Given the description of an element on the screen output the (x, y) to click on. 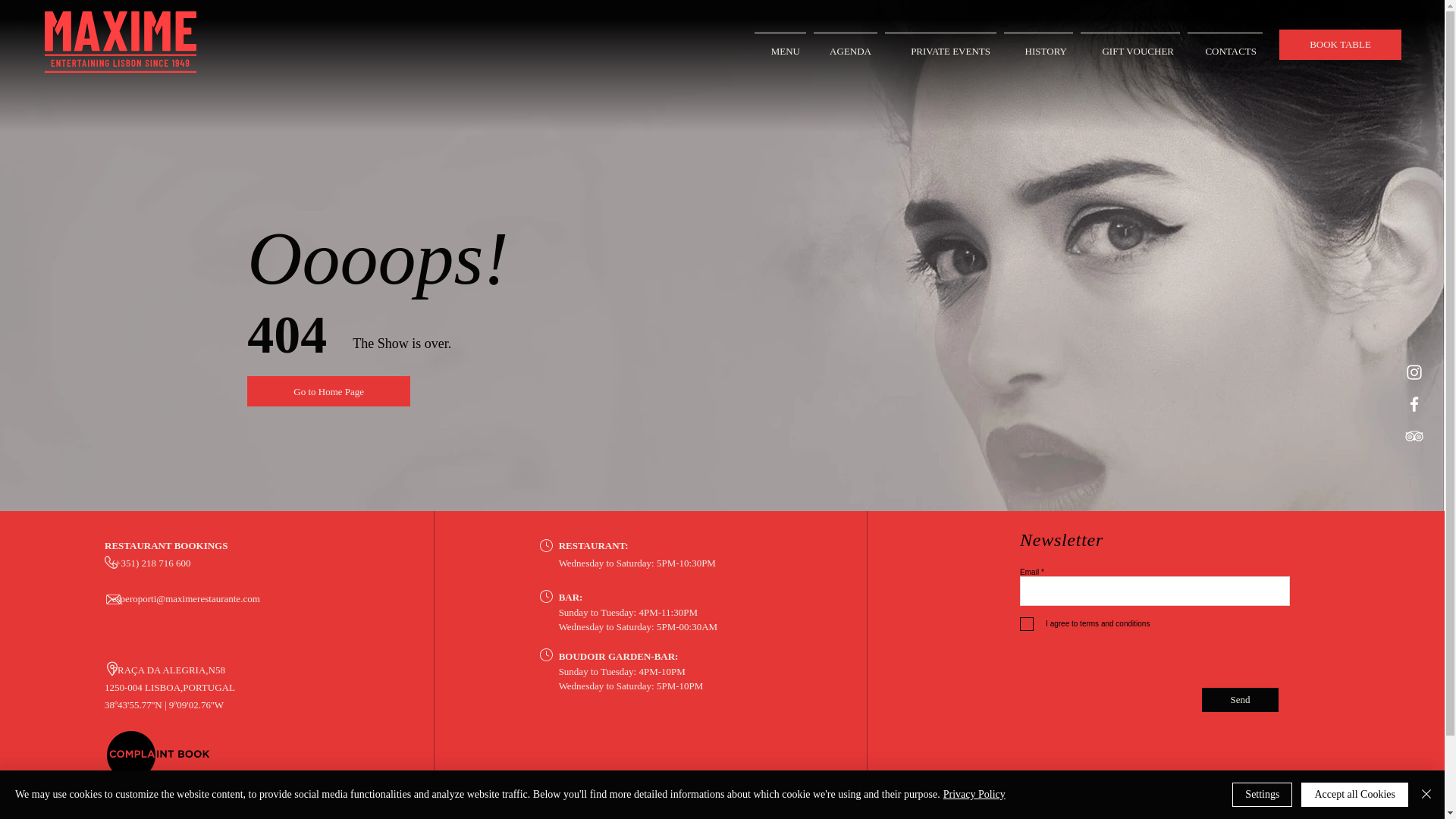
Send (1240, 699)
BOOK TABLE (1339, 44)
AGENDA (844, 44)
PRIVATE EVENTS (940, 44)
Go to Home Page (328, 390)
Accept all Cookies (1354, 794)
HISTORY (1038, 44)
MENU (780, 44)
GIFT VOUCHER (1130, 44)
Privacy Policy (974, 794)
Settings (1261, 794)
CONTACTS (1224, 44)
